Given the description of an element on the screen output the (x, y) to click on. 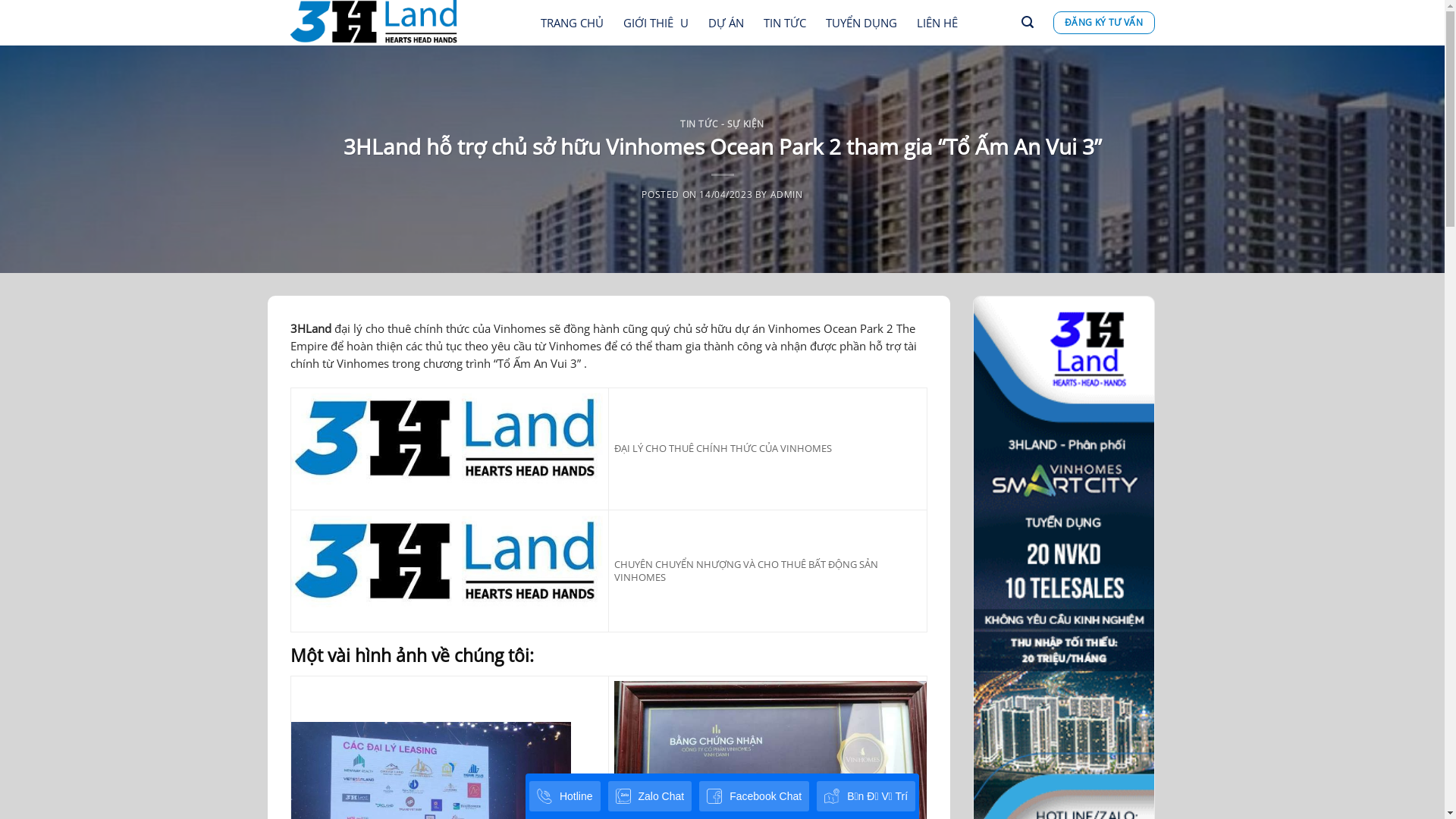
ADMIN Element type: text (786, 194)
3HLand Element type: text (309, 327)
14/04/2023 Element type: text (725, 194)
